Given the description of an element on the screen output the (x, y) to click on. 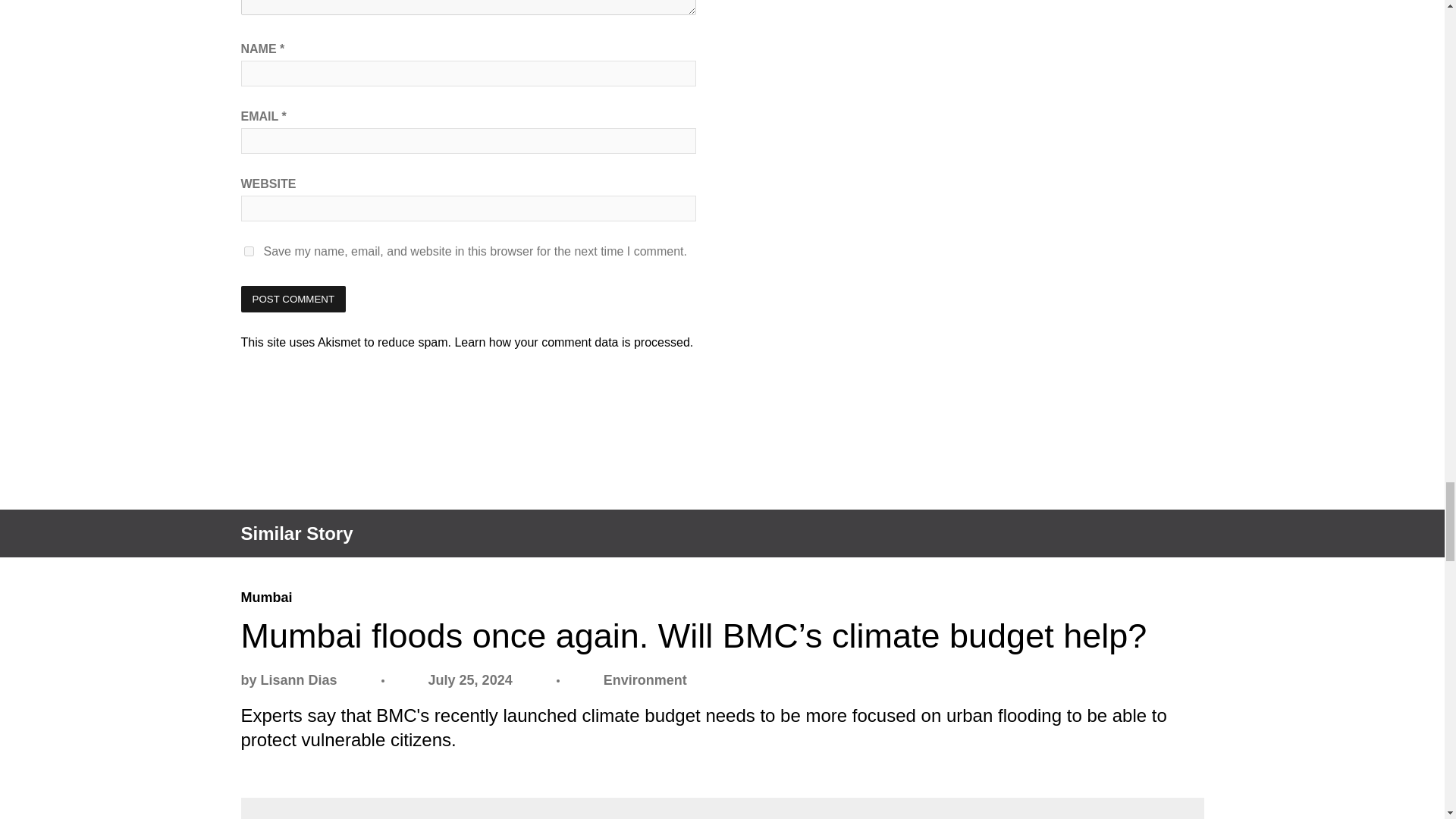
yes (248, 251)
Post Comment (293, 298)
